Given the description of an element on the screen output the (x, y) to click on. 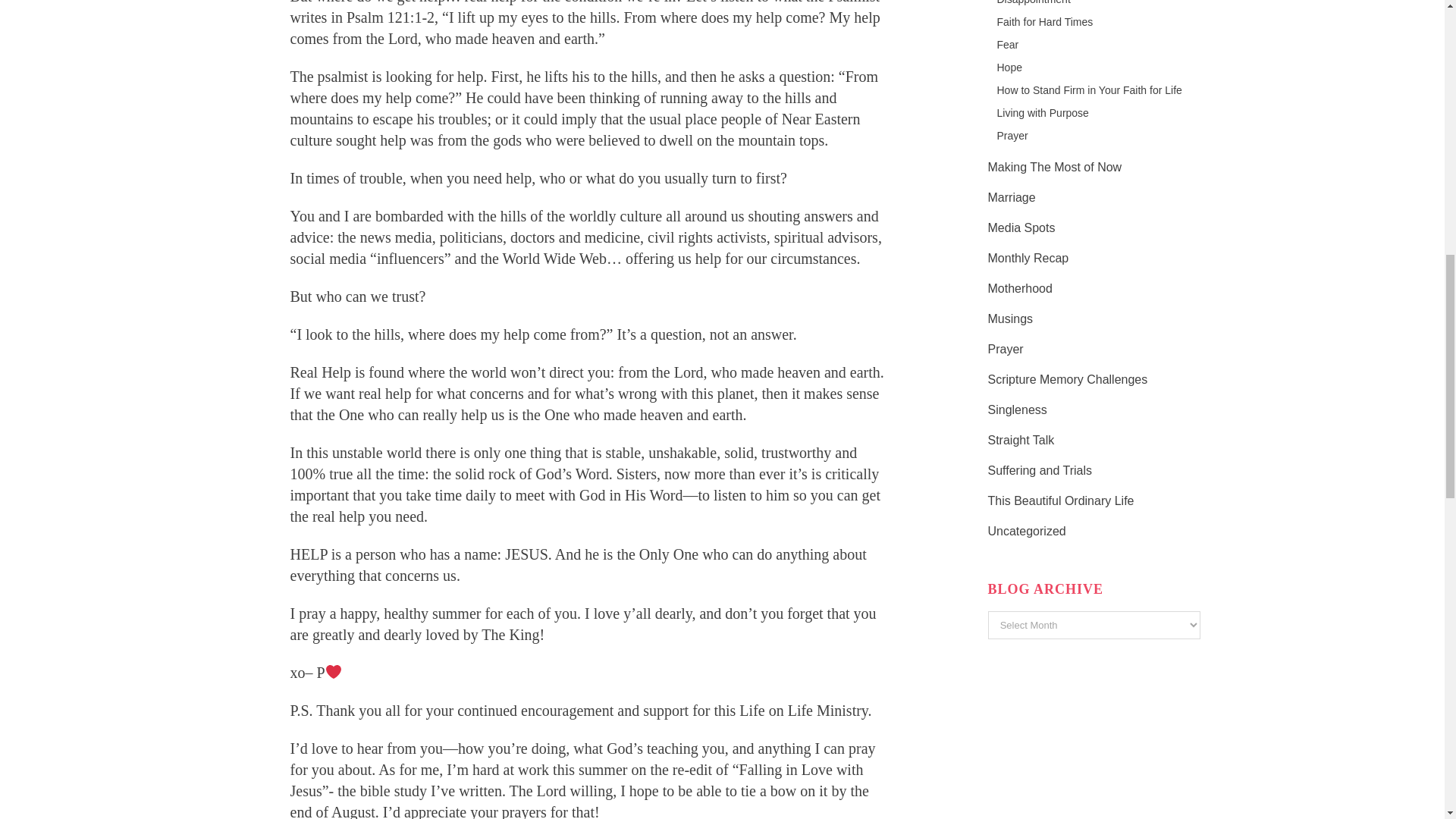
Disappointment (1032, 2)
Faith for Hard Times (1044, 21)
